Given the description of an element on the screen output the (x, y) to click on. 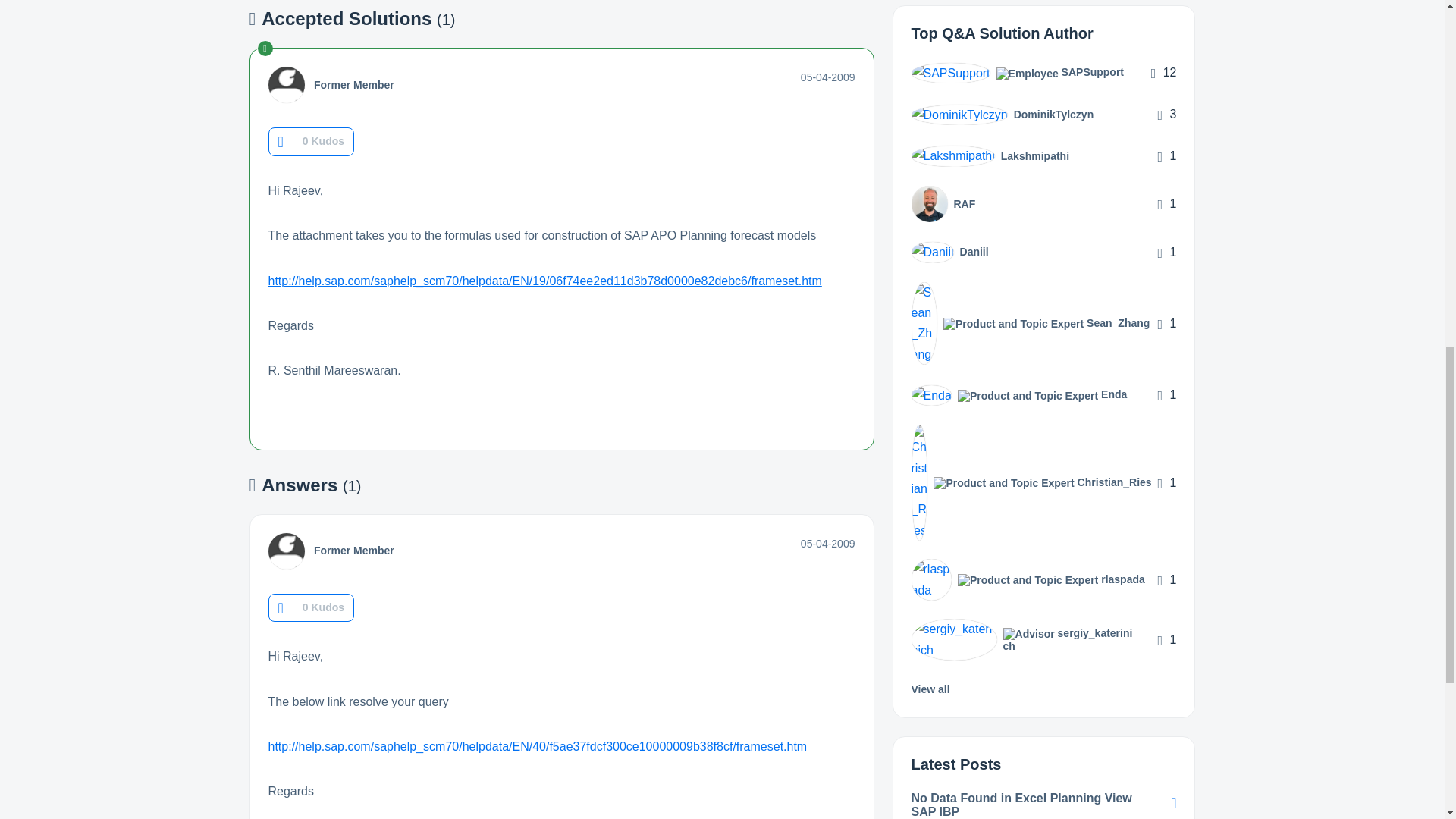
Posted on (828, 77)
